Given the description of an element on the screen output the (x, y) to click on. 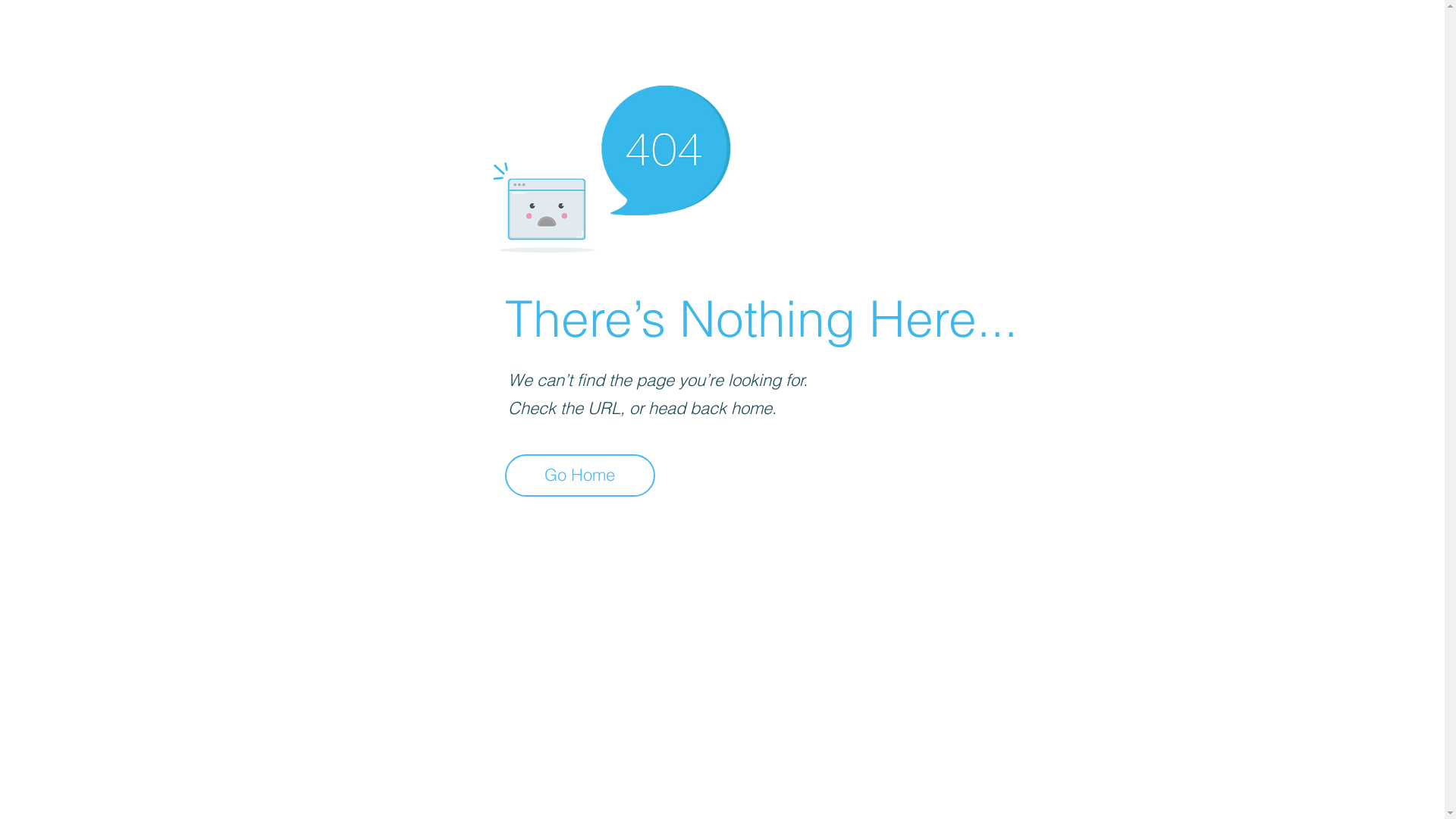
Go Home Element type: text (580, 475)
404-icon_2.png Element type: hover (610, 164)
